Given the description of an element on the screen output the (x, y) to click on. 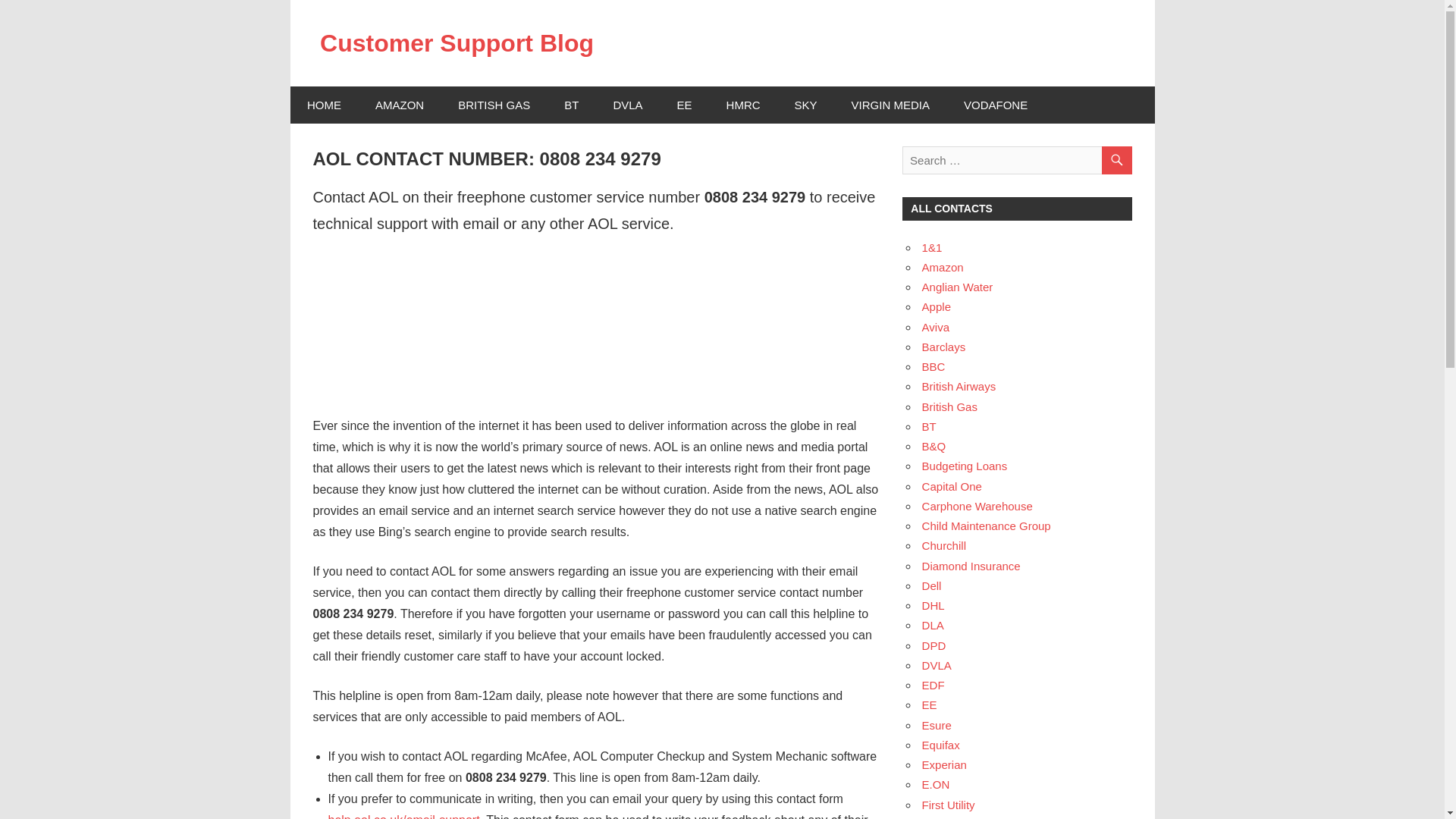
Dell (931, 585)
Churchill (943, 545)
DVLA (627, 104)
SKY (805, 104)
HMRC (743, 104)
Amazon (942, 267)
Diamond Insurance (970, 565)
BT (928, 426)
Carphone Warehouse (976, 505)
Barclays (943, 346)
Aviva (935, 327)
DLA (932, 625)
Search for: (1016, 160)
Budgeting Loans (964, 465)
Capital One (951, 486)
